Given the description of an element on the screen output the (x, y) to click on. 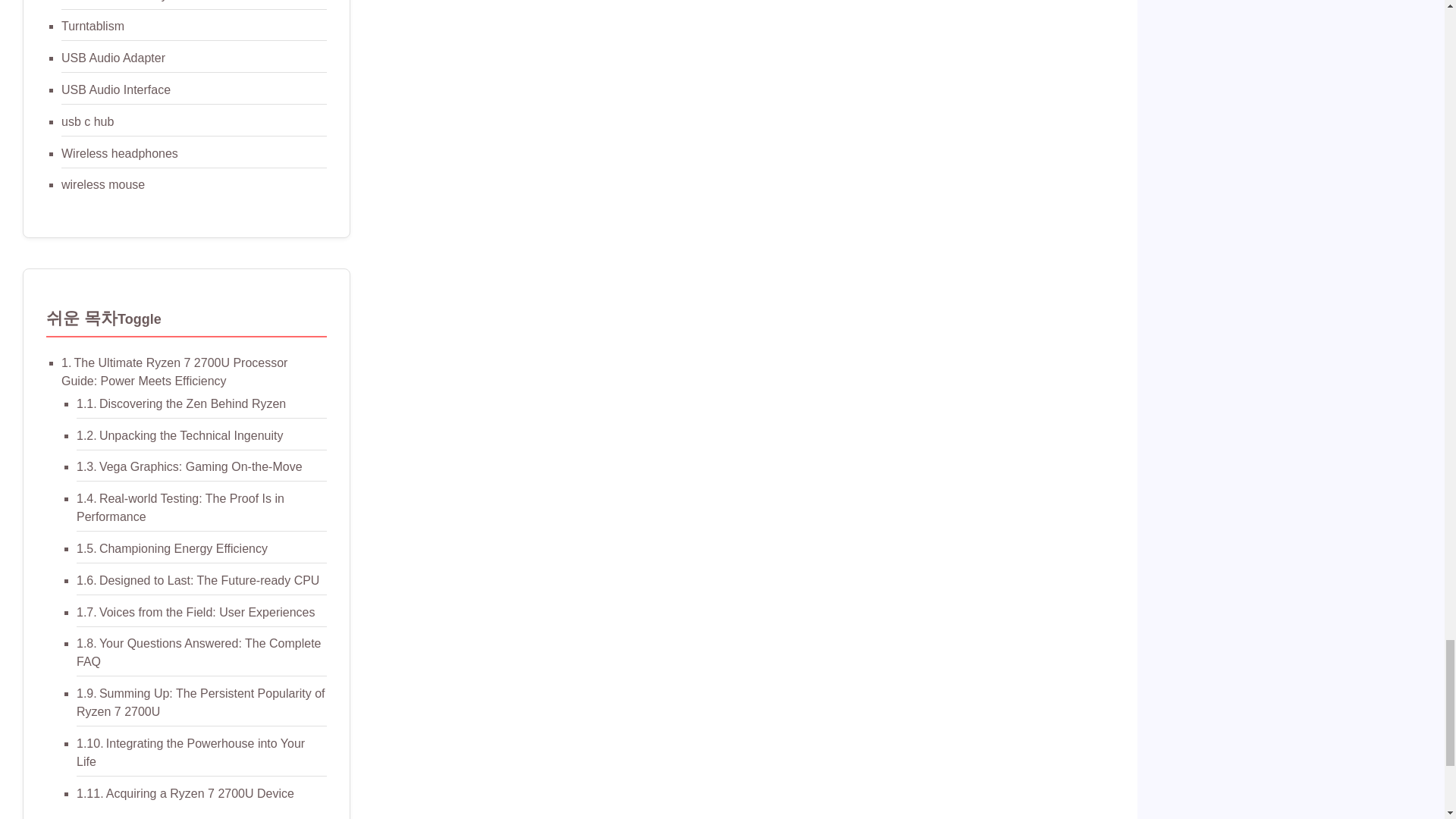
Discovering the Zen Behind Ryzen (192, 403)
